Given the description of an element on the screen output the (x, y) to click on. 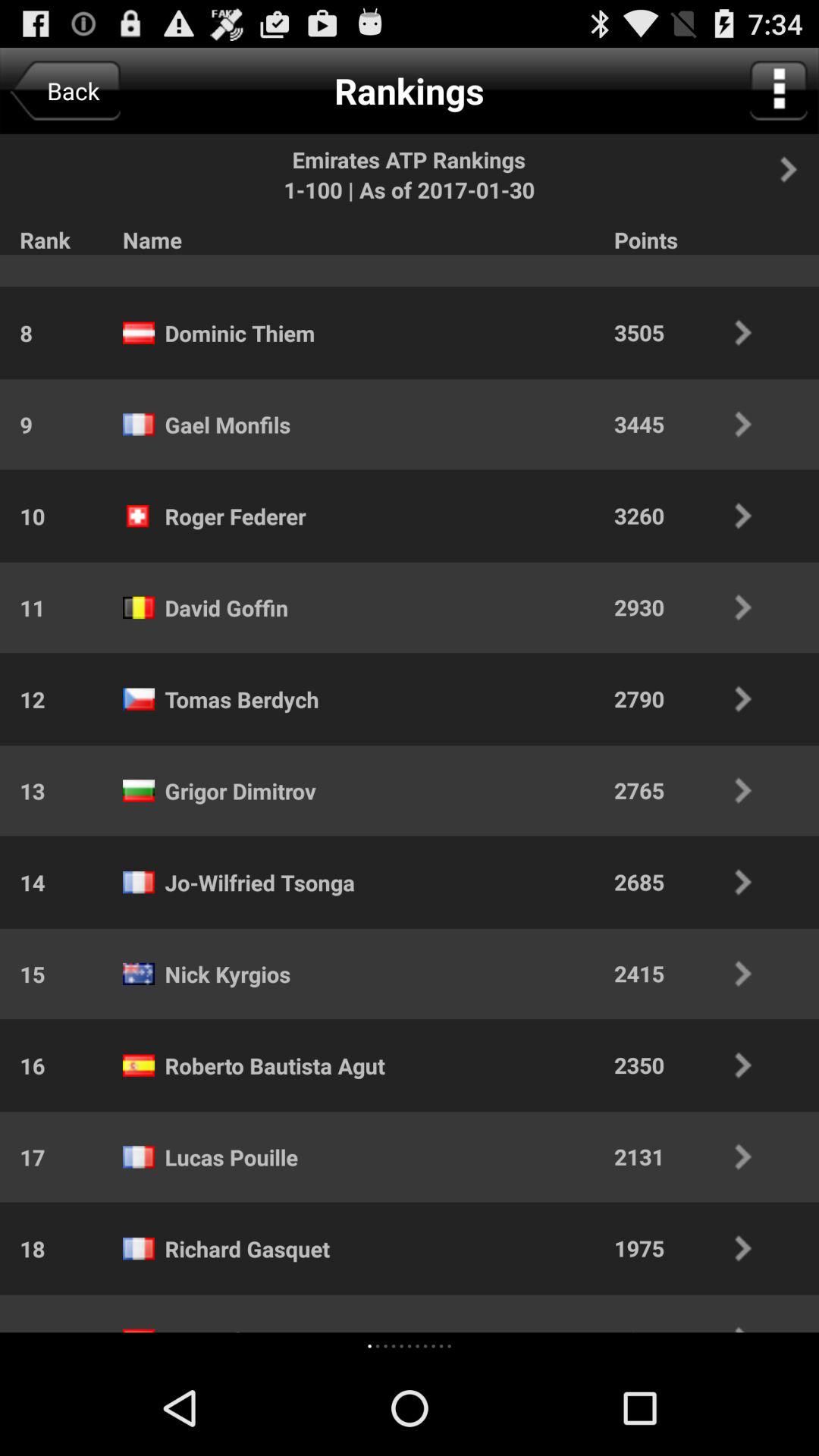
next screen (797, 169)
